Given the description of an element on the screen output the (x, y) to click on. 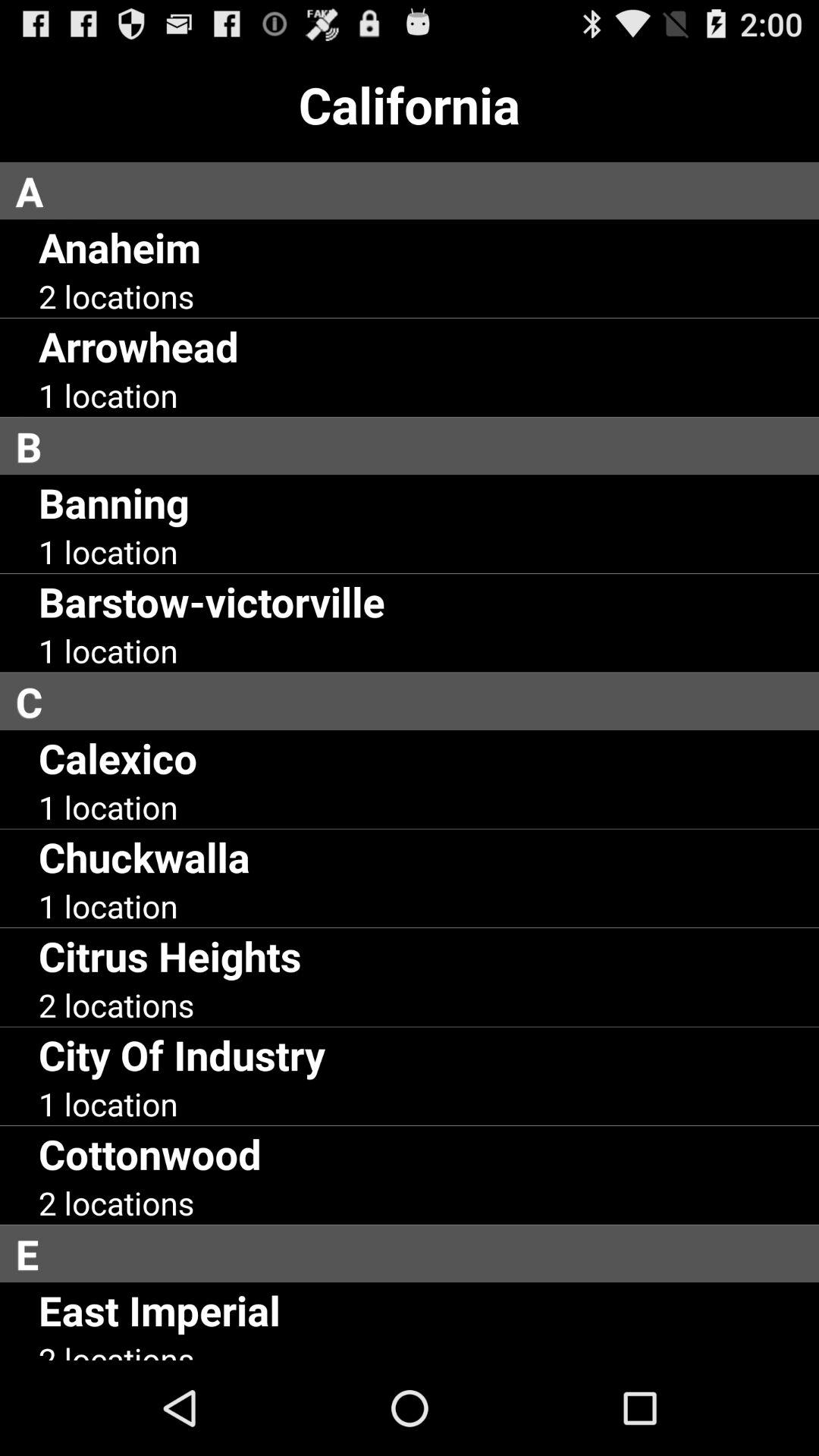
choose item below 1 location icon (211, 601)
